Given the description of an element on the screen output the (x, y) to click on. 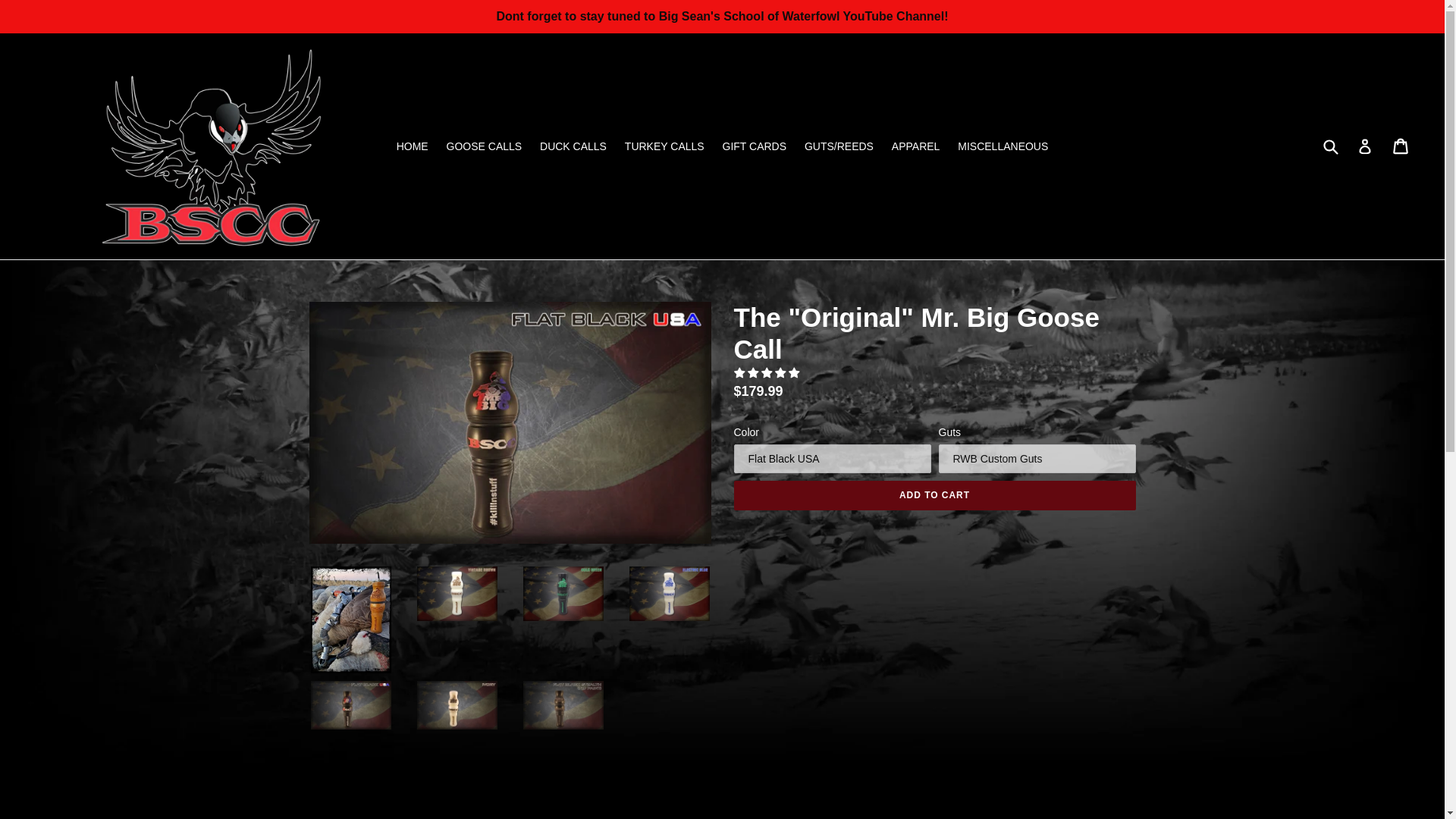
GOOSE CALLS (484, 146)
TURKEY CALLS (664, 146)
DUCK CALLS (573, 146)
ADD TO CART (934, 495)
APPAREL (915, 146)
MISCELLANEOUS (1002, 146)
HOME (411, 146)
GIFT CARDS (754, 146)
